Given the description of an element on the screen output the (x, y) to click on. 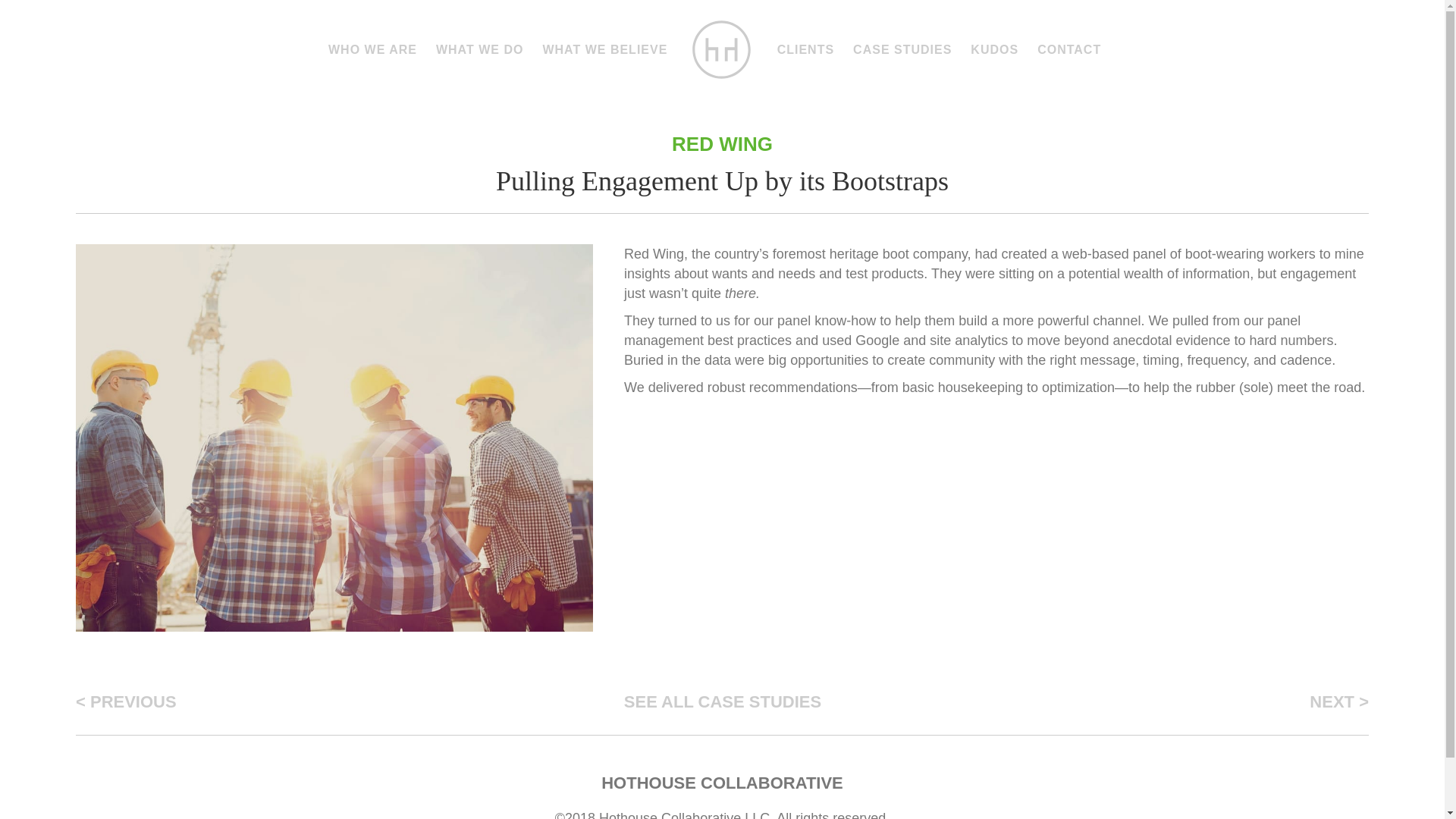
CONTACT (1068, 49)
HOTHOUSE COLLABORATIVE (722, 782)
CASE STUDIES (902, 49)
WHAT WE BELIEVE (603, 49)
WHAT WE DO (478, 49)
SEE ALL CASE STUDIES (722, 698)
WHO WE ARE (372, 49)
CLIENTS (805, 49)
KUDOS (994, 49)
